Given the description of an element on the screen output the (x, y) to click on. 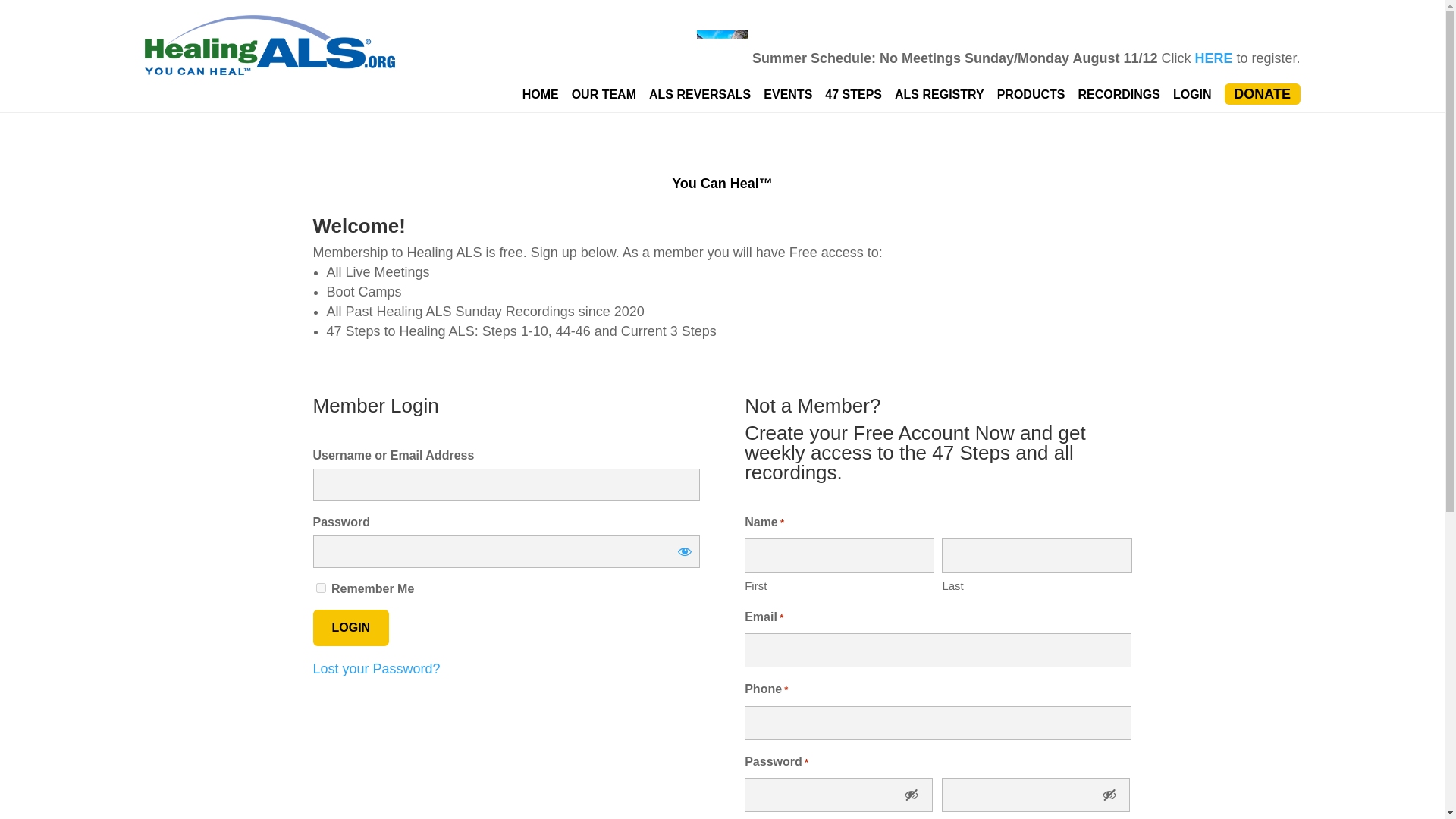
Login (350, 627)
47 STEPS (853, 94)
Login (350, 627)
ALS REVERSALS (700, 94)
forever (319, 587)
DONATE (1262, 93)
HOME (540, 94)
PRODUCTS (1031, 94)
EVENTS (787, 94)
Lost your Password? (376, 668)
